Given the description of an element on the screen output the (x, y) to click on. 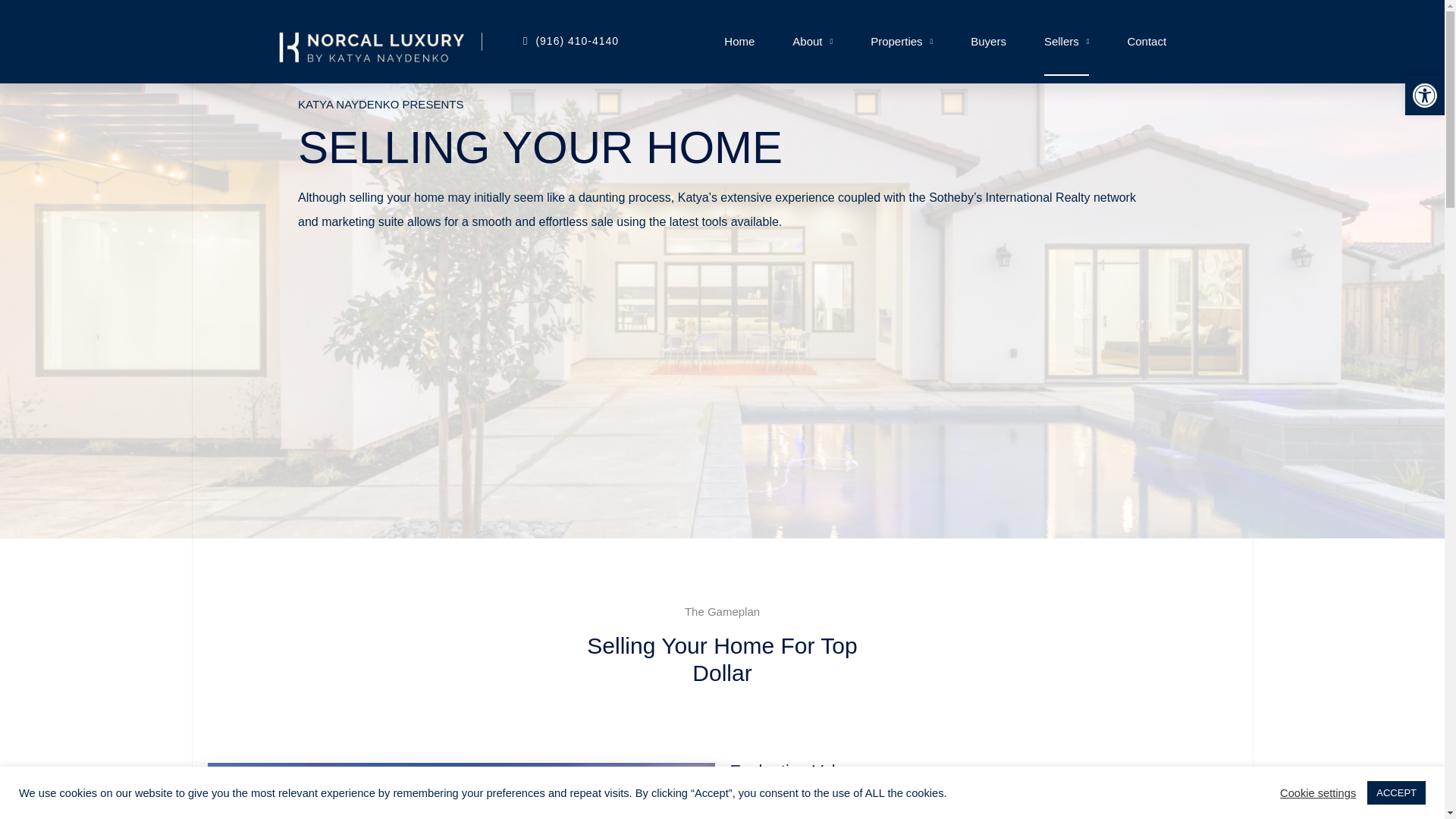
Accessibility Tools (1424, 95)
Properties (901, 41)
Skip to content (15, 31)
